Given the description of an element on the screen output the (x, y) to click on. 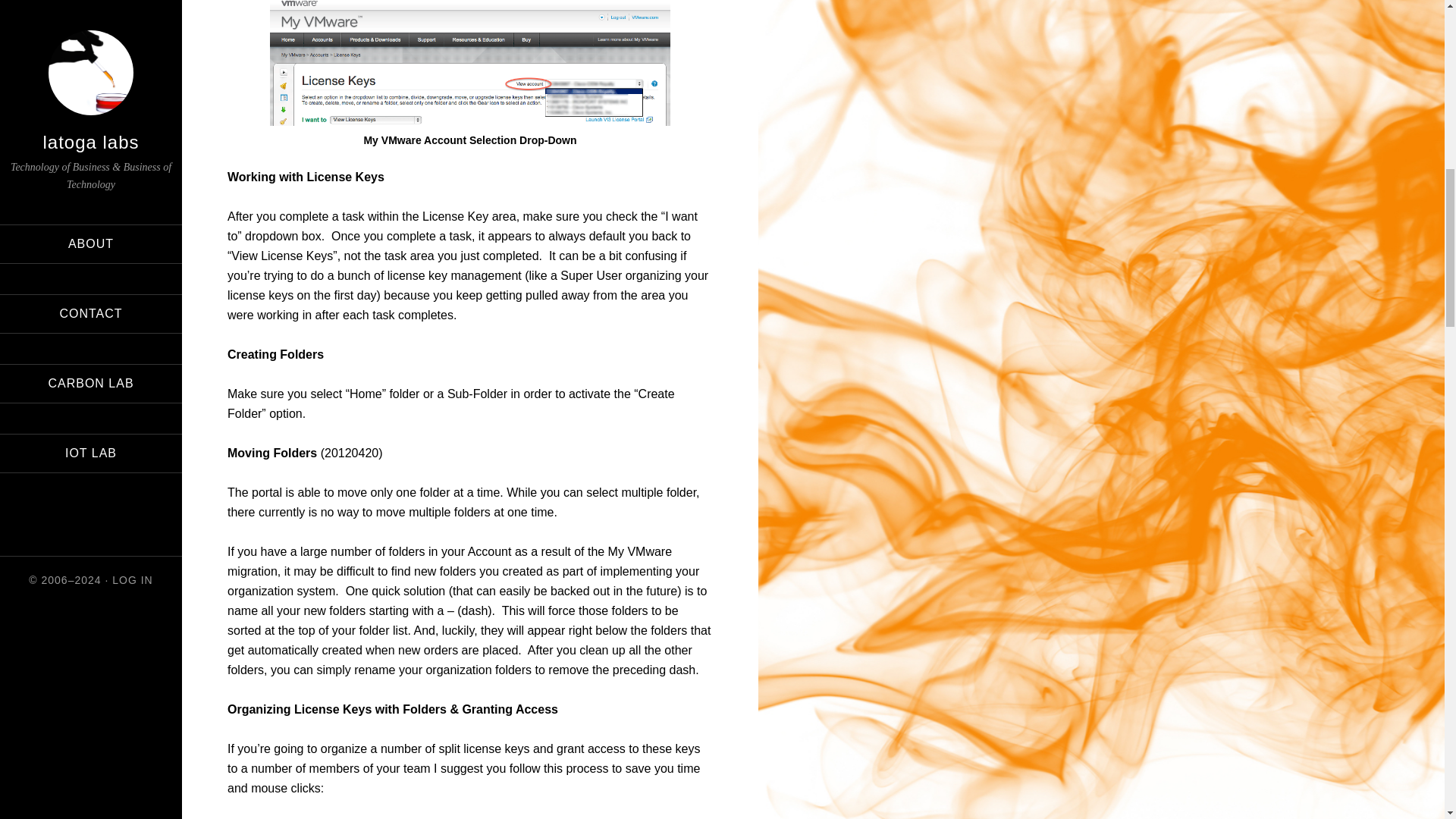
MyVMW-screen-Account-Selection (469, 63)
